Given the description of an element on the screen output the (x, y) to click on. 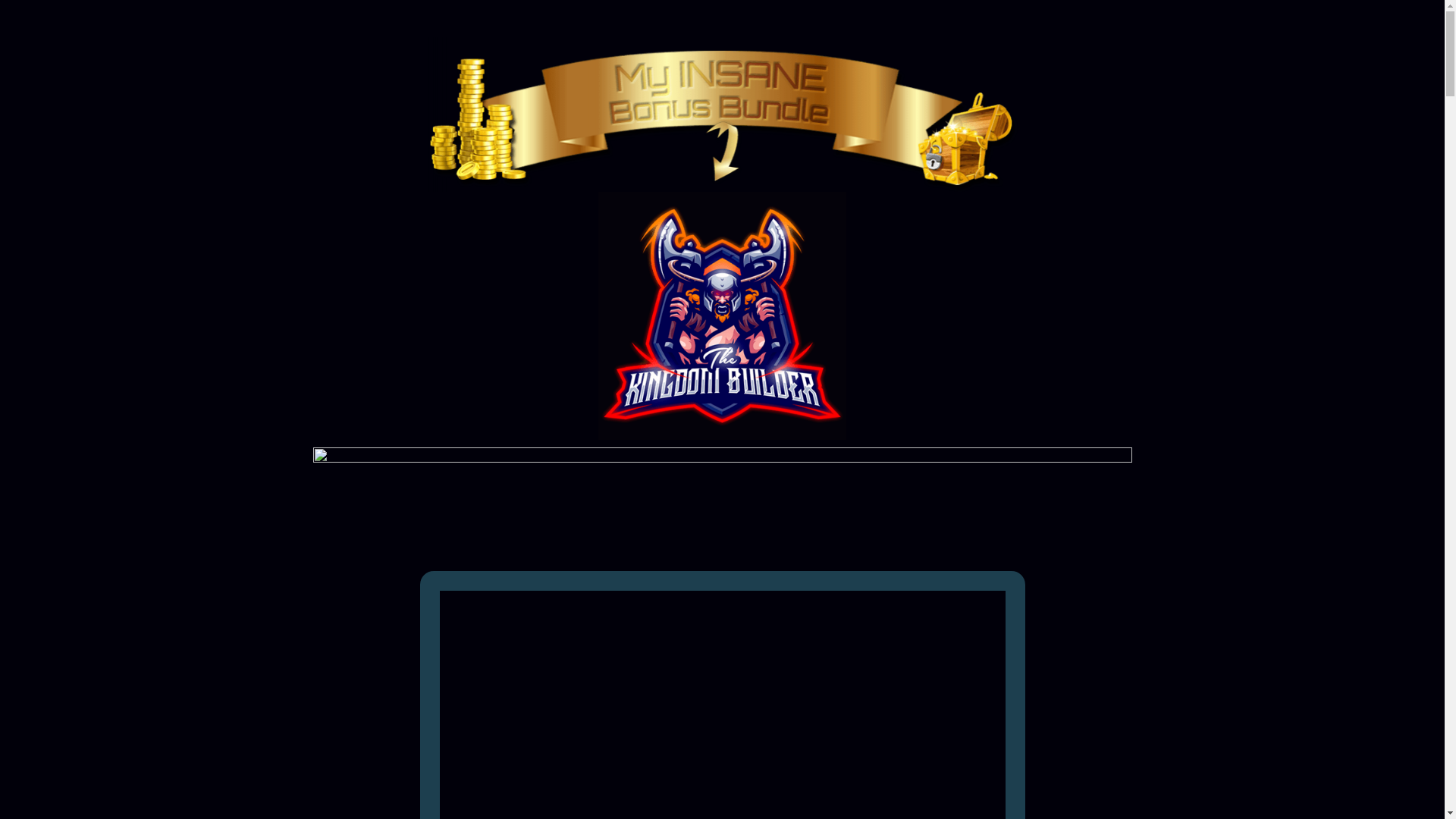
logo (721, 315)
header (722, 501)
